Given the description of an element on the screen output the (x, y) to click on. 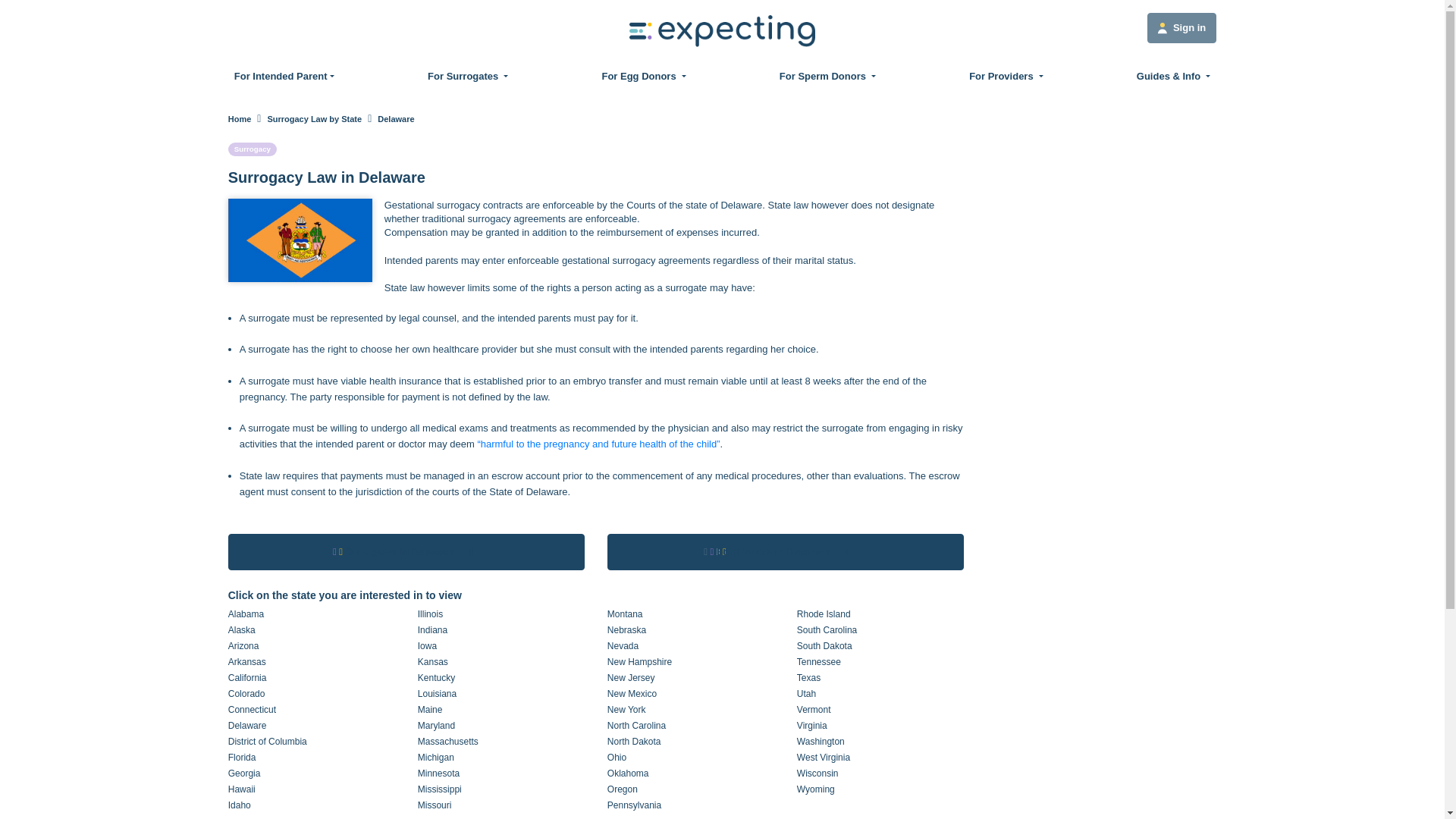
For Egg Donors (643, 75)
Sign in (1181, 28)
For Intended Parent (284, 75)
For Providers (1005, 75)
For Surrogates (467, 75)
For Sperm Donors (827, 75)
